Given the description of an element on the screen output the (x, y) to click on. 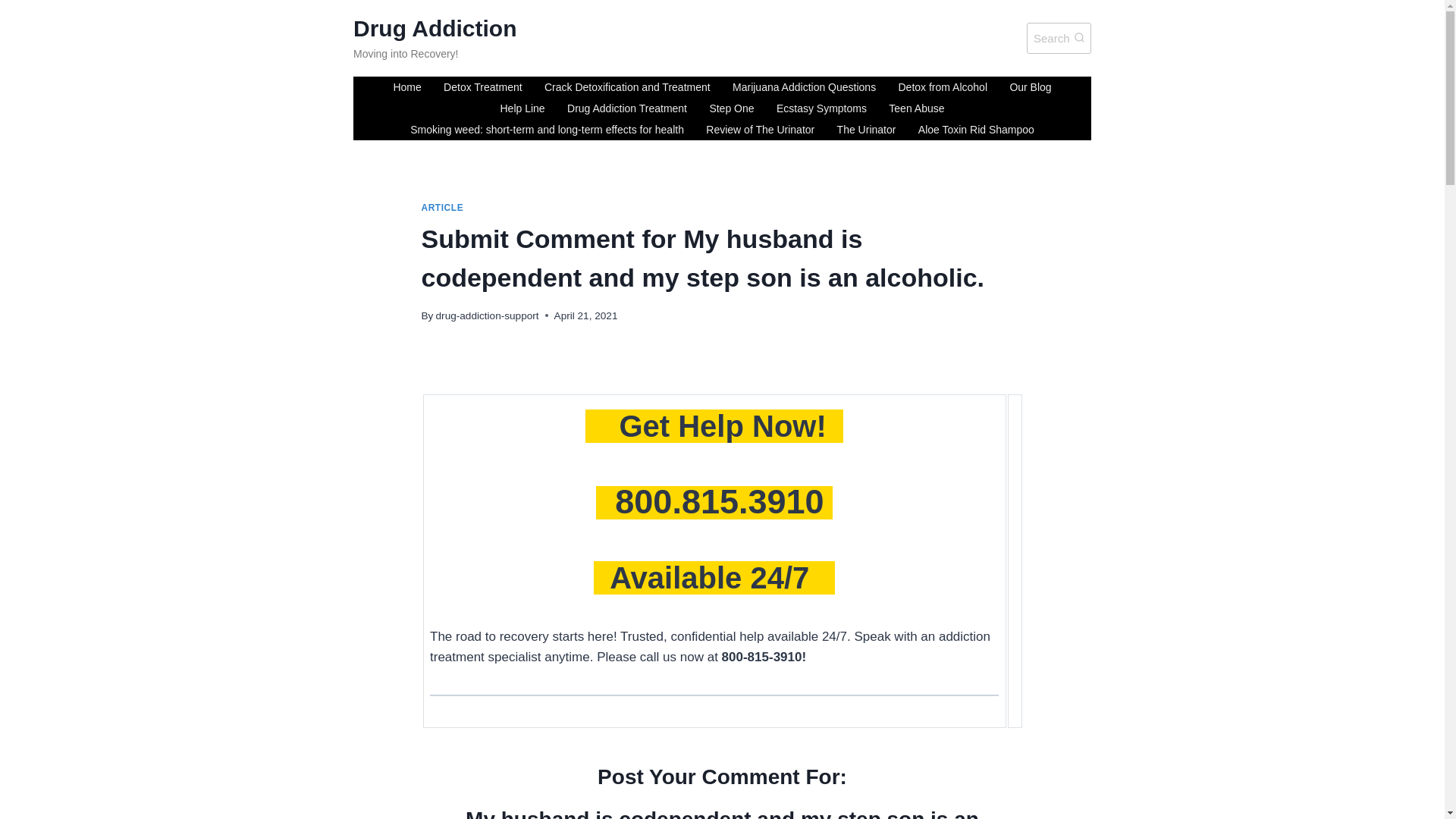
Marijuana Addiction Questions (803, 86)
Home (406, 86)
Step One (731, 107)
Detox Treatment (482, 86)
Aloe Toxin Rid Shampoo (976, 129)
Ecstasy Symptoms (821, 107)
Search (1058, 38)
Drug Addiction Treatment (626, 107)
Our Blog (1030, 86)
drug-addiction-support (434, 38)
ARTICLE (486, 315)
The Urinator (443, 207)
Teen Abuse (866, 129)
Crack Detoxification and Treatment (916, 107)
